Given the description of an element on the screen output the (x, y) to click on. 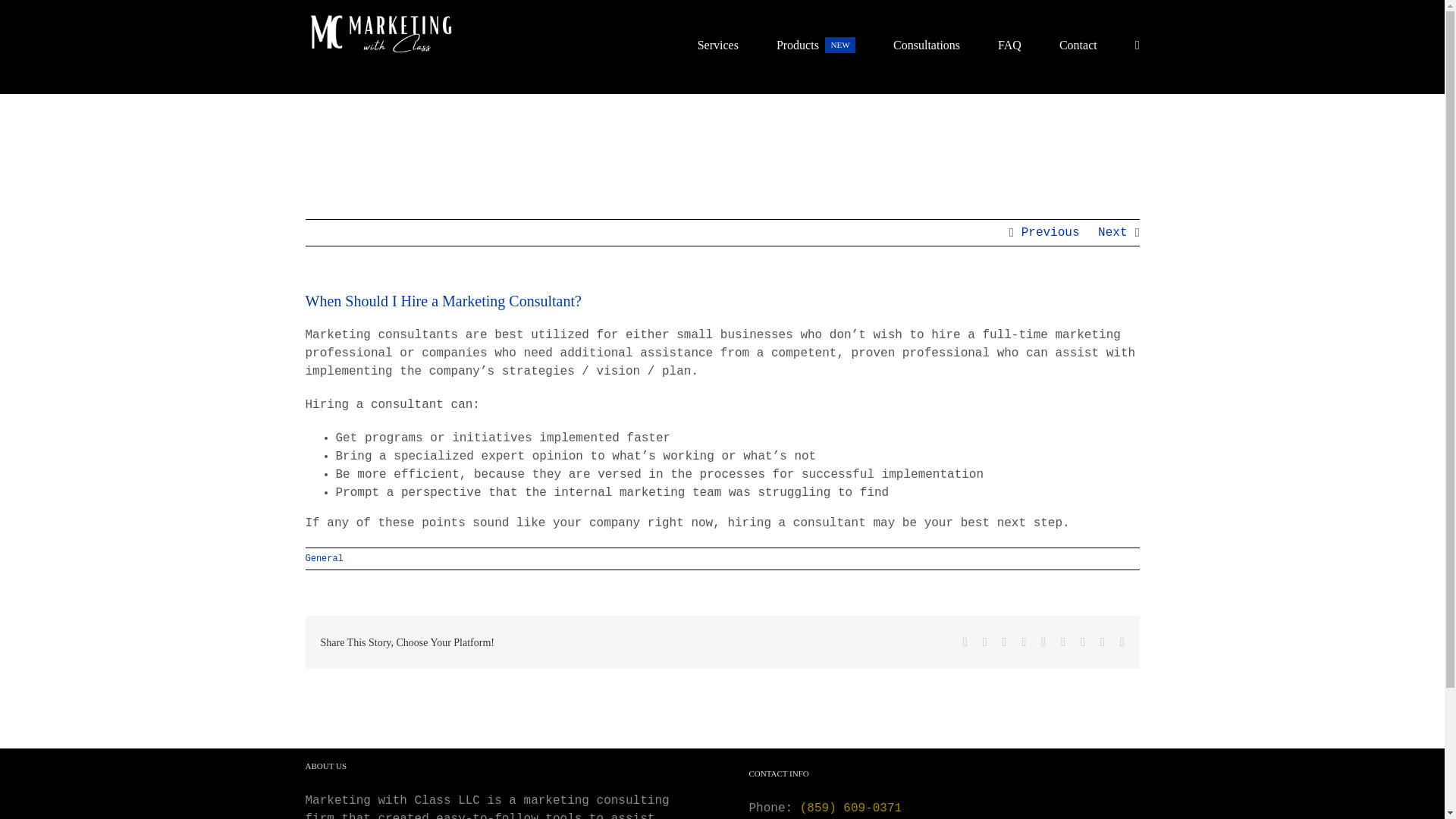
General (323, 558)
Next (1111, 232)
Consultations (926, 39)
Previous (1051, 232)
